Given the description of an element on the screen output the (x, y) to click on. 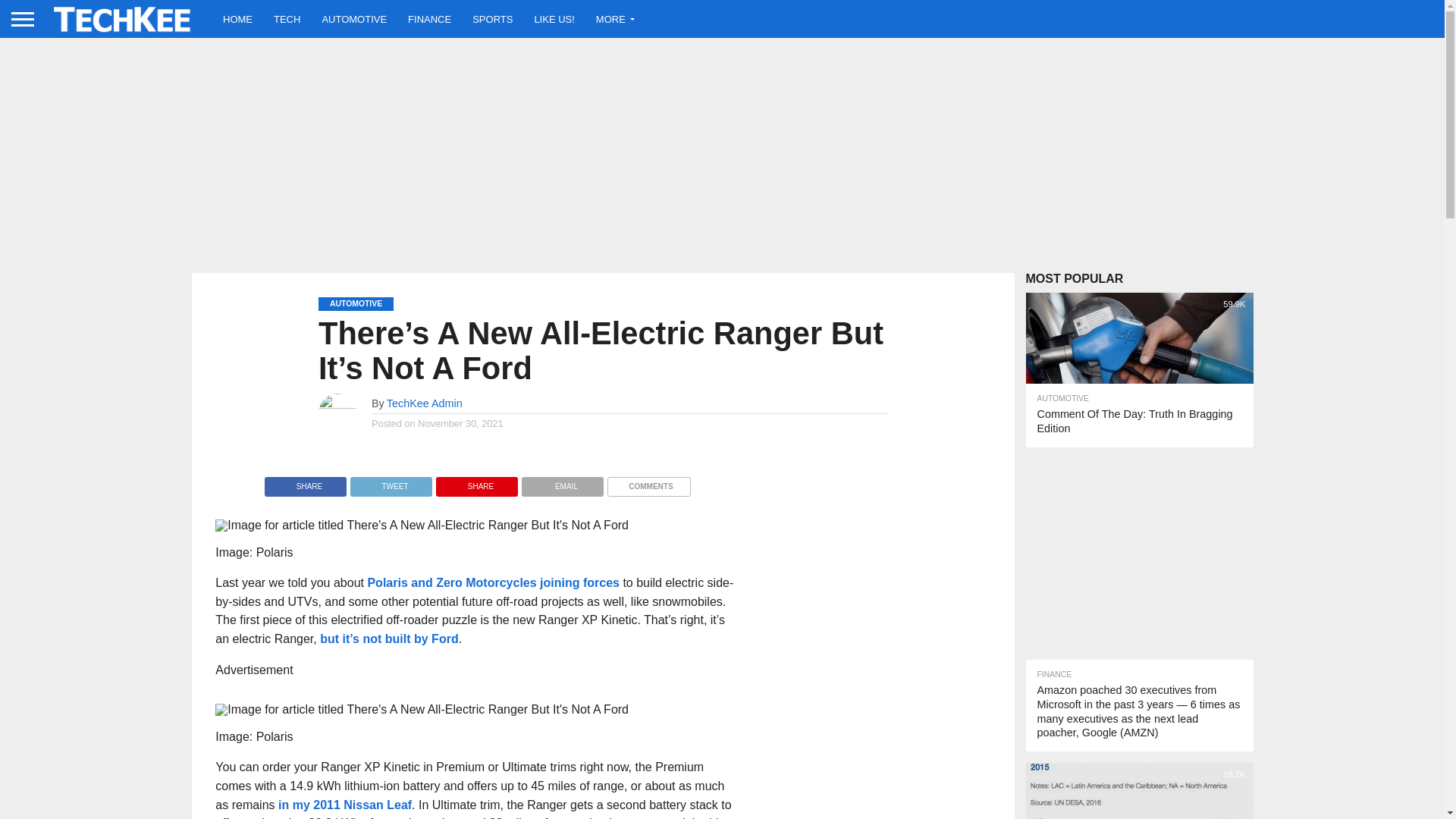
Pin This Post (476, 481)
TechKee Admin (425, 403)
SHARE (476, 481)
MORE (612, 18)
TECH (287, 18)
TWEET (390, 481)
AUTOMOTIVE (354, 18)
Posts by TechKee Admin (425, 403)
SPORTS (491, 18)
SHARE (305, 481)
COMMENTS (648, 481)
Share on Facebook (305, 481)
Advertisement (1138, 553)
Tweet This Post (390, 481)
